Given the description of an element on the screen output the (x, y) to click on. 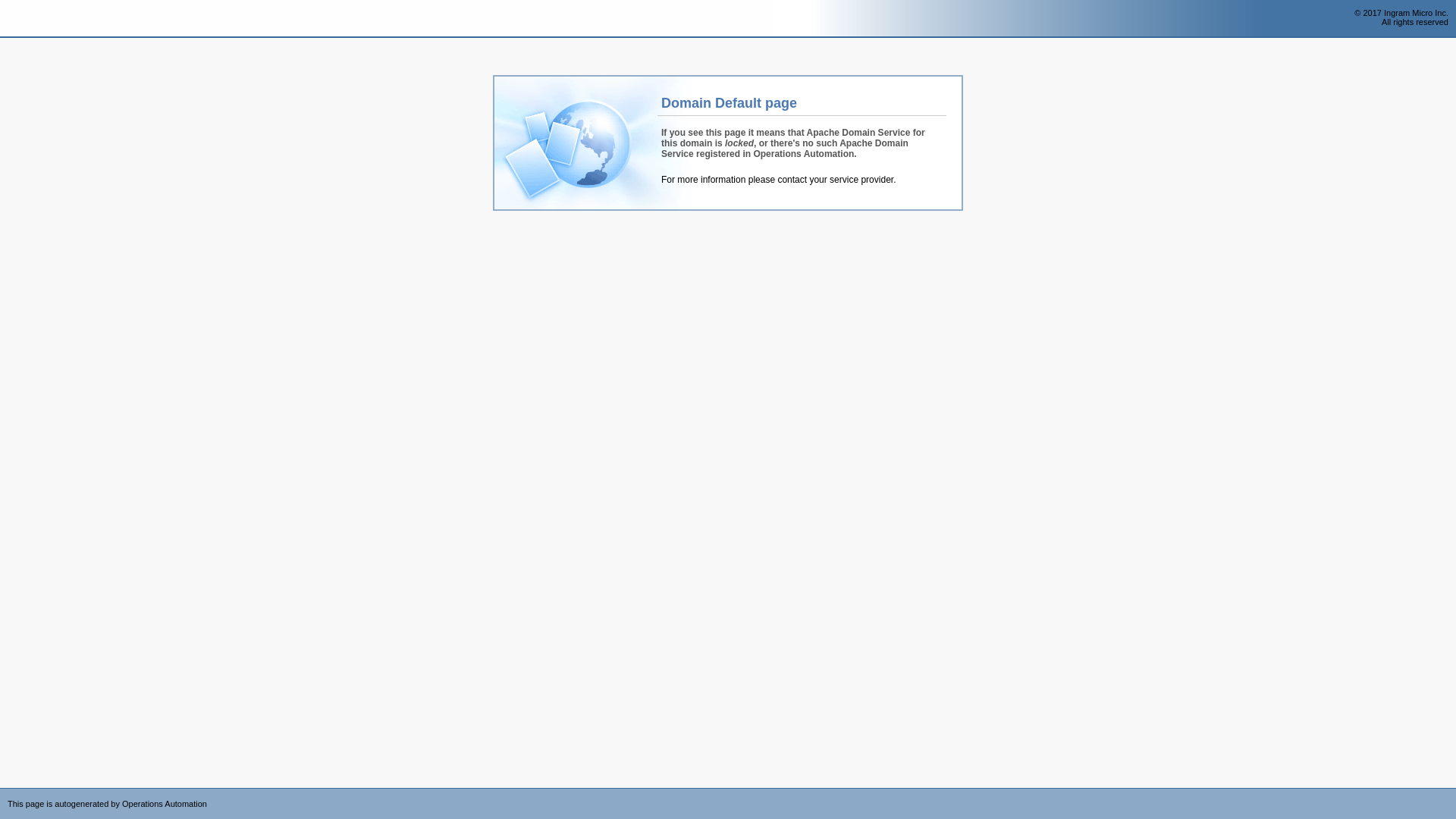
Powered by CloudBlue Commerce Element type: hover (1447, 792)
Operations Automation Element type: text (39, 18)
